Given the description of an element on the screen output the (x, y) to click on. 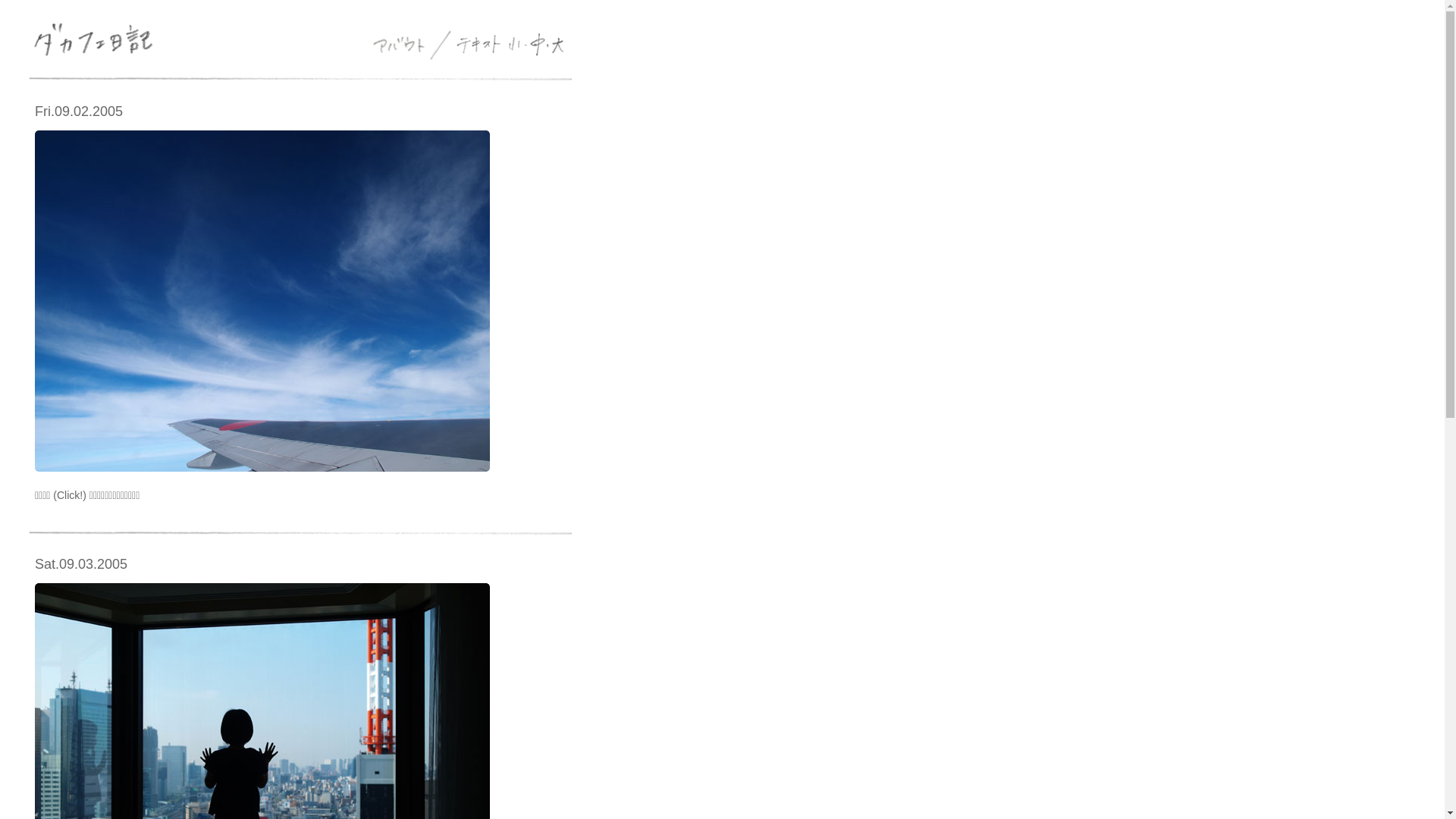
Fri.09.02.2005 Element type: text (78, 111)
Sat.09.03.2005 Element type: text (80, 563)
(Click!) Element type: text (69, 495)
